Given the description of an element on the screen output the (x, y) to click on. 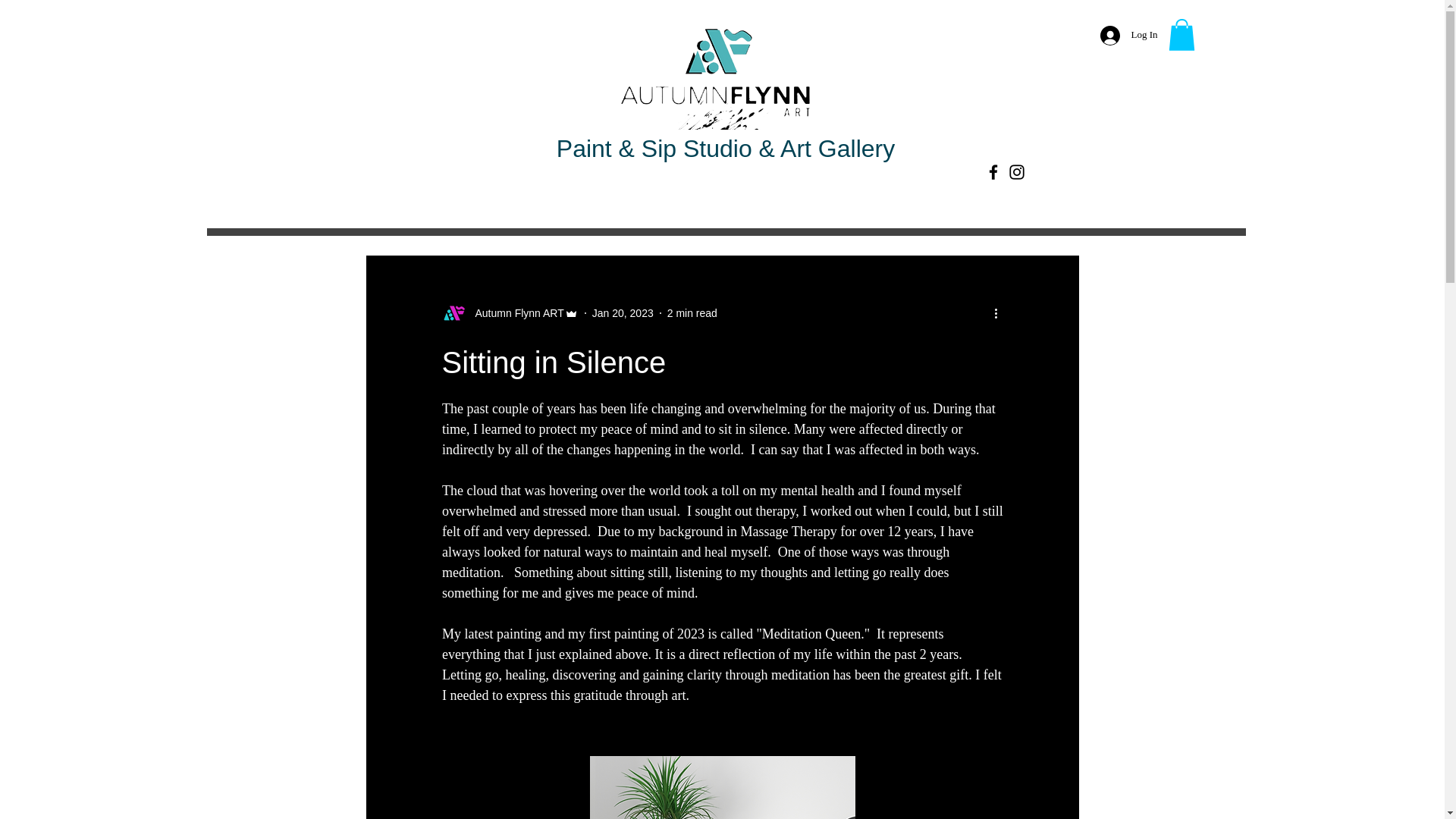
CONTACT (841, 196)
 Autumn Flynn ART (514, 312)
Log In (1128, 35)
PAINT PARTIES (724, 196)
Autumn Flynn ART (509, 313)
PAINTINGS (490, 196)
BLOG (929, 196)
Art Tips (575, 210)
2 min read (691, 312)
Creative arts, Painting (480, 210)
HOME (398, 196)
ABOUT (1009, 196)
Jan 20, 2023 (622, 312)
ART PRINTS (601, 196)
All Posts (384, 210)
